Given the description of an element on the screen output the (x, y) to click on. 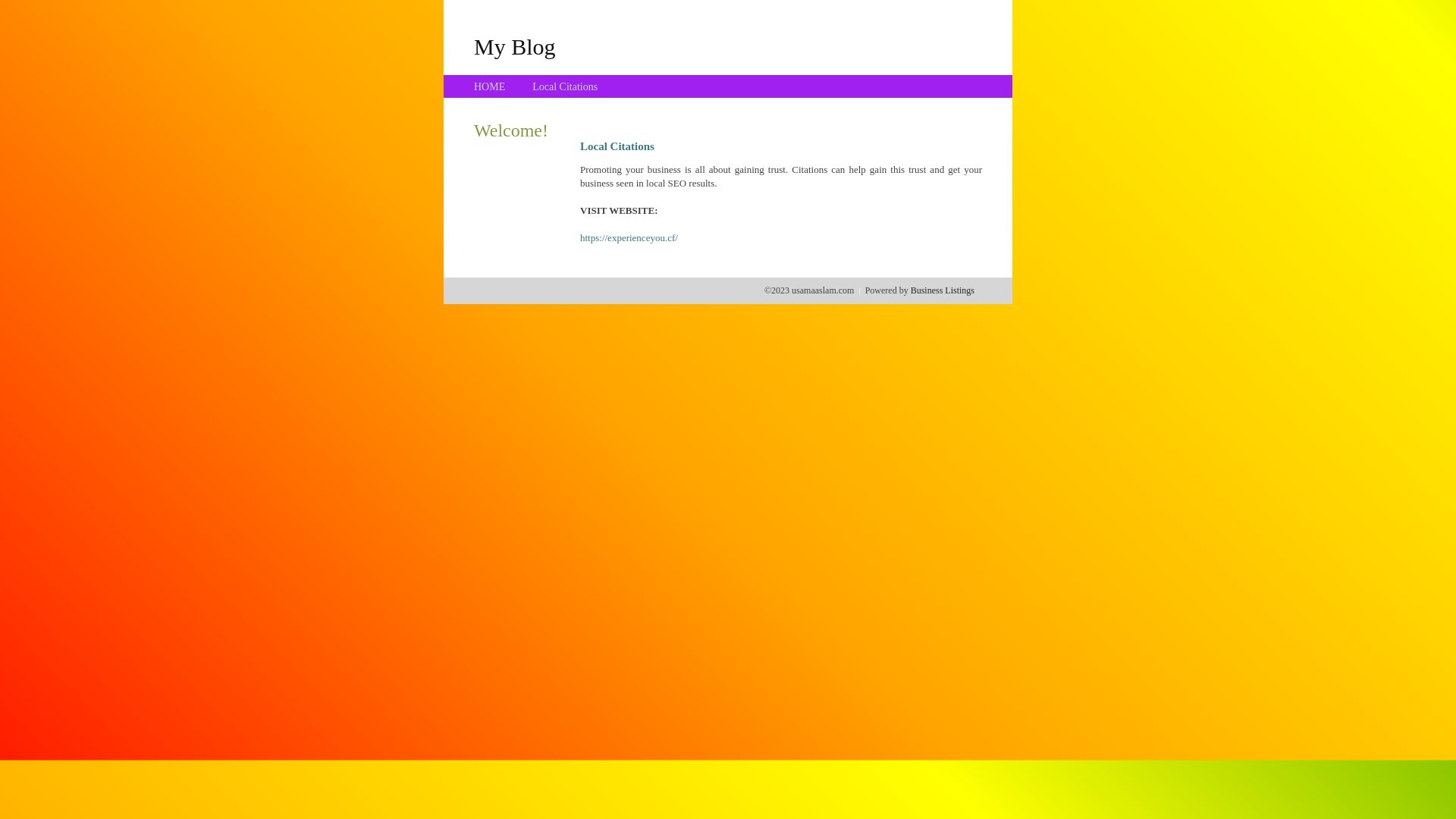
Local Citations Element type: text (564, 86)
https://experienceyou.cf/ Element type: text (628, 237)
My Blog Element type: text (514, 46)
HOME Element type: text (489, 86)
Business Listings Element type: text (942, 290)
